Given the description of an element on the screen output the (x, y) to click on. 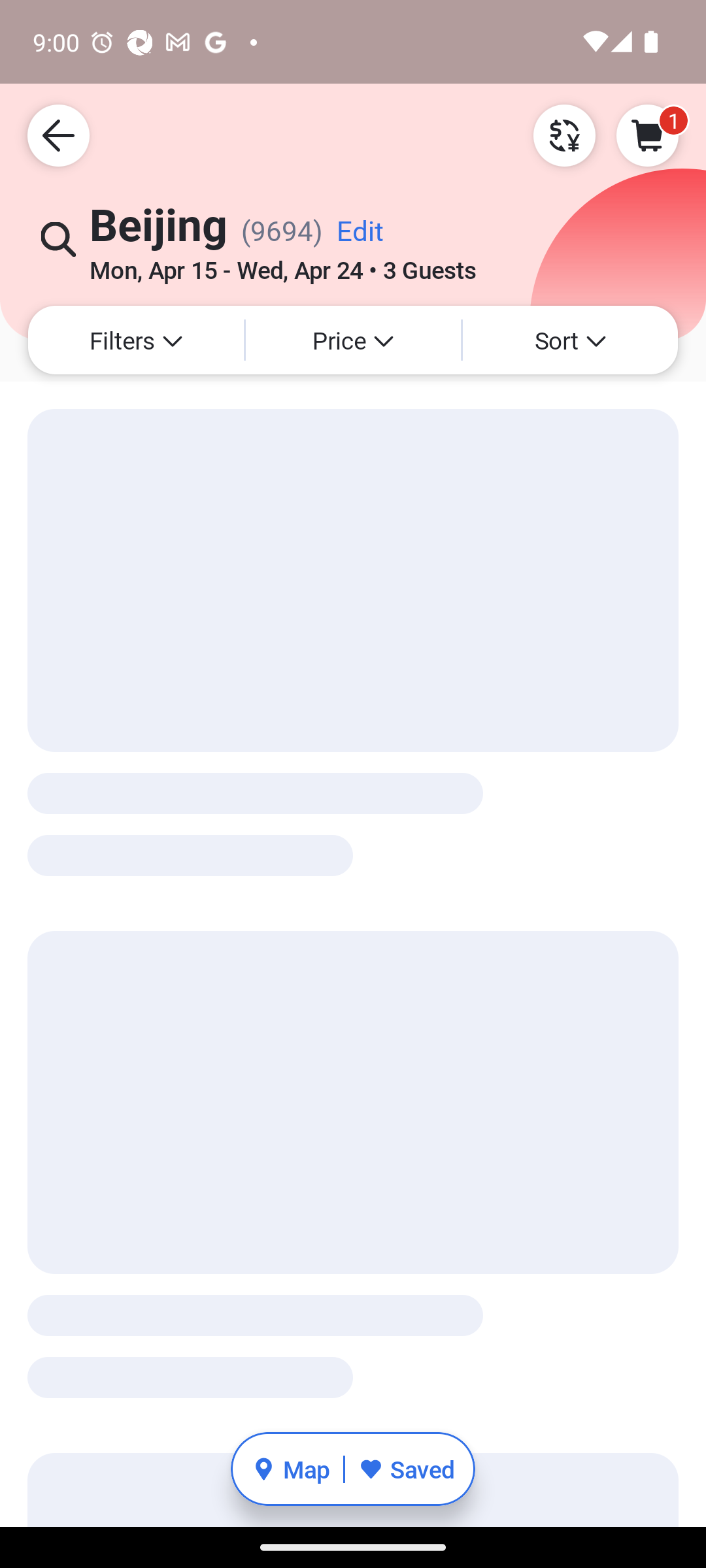
Mon, Apr 15 - Wed, Apr 24 • 3 Guests (282, 262)
Filters (135, 340)
Price (353, 340)
Sort (570, 340)
Map (290, 1468)
Saved (406, 1468)
